Given the description of an element on the screen output the (x, y) to click on. 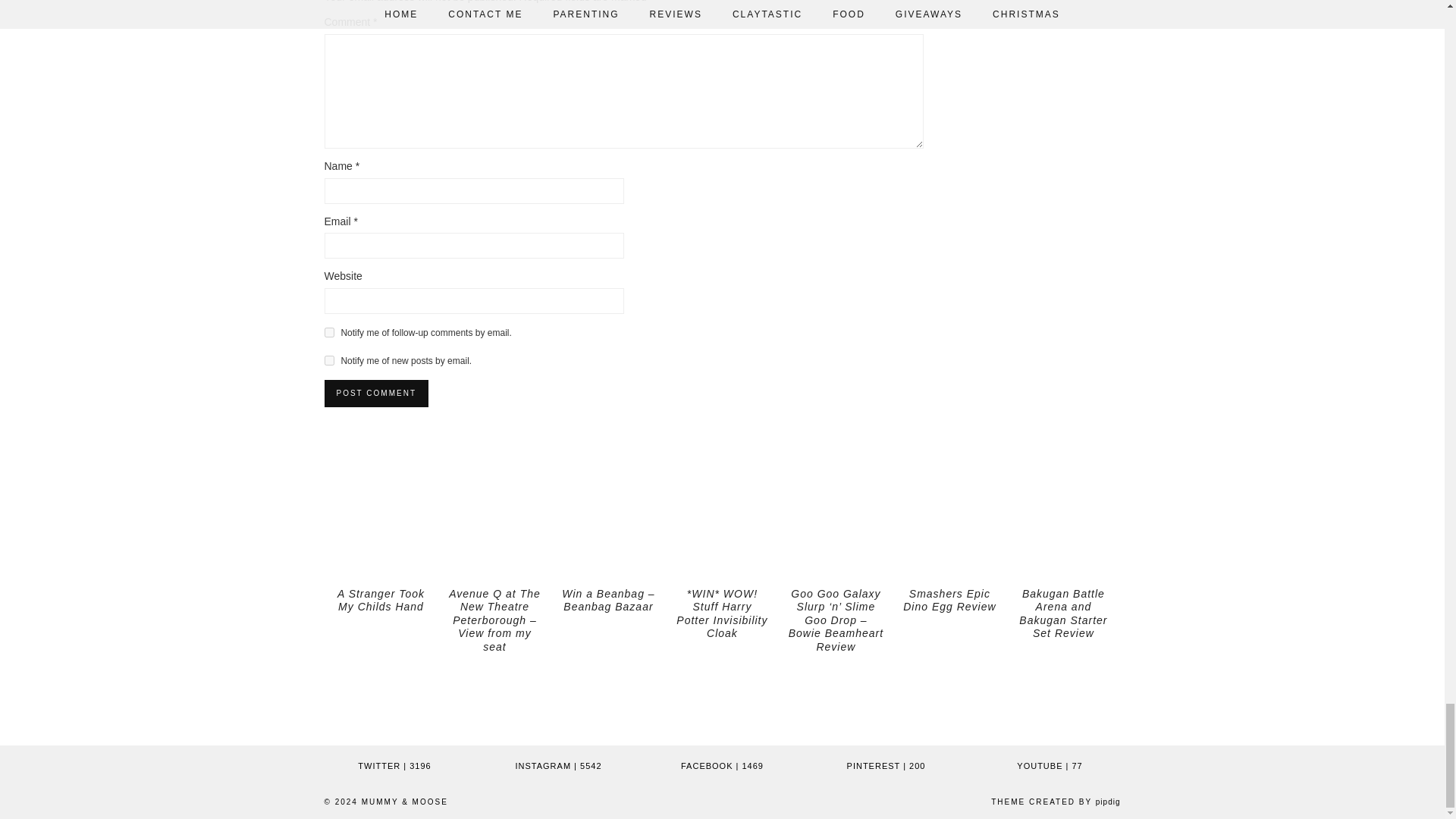
subscribe (329, 332)
Post Comment (376, 393)
subscribe (329, 360)
